Given the description of an element on the screen output the (x, y) to click on. 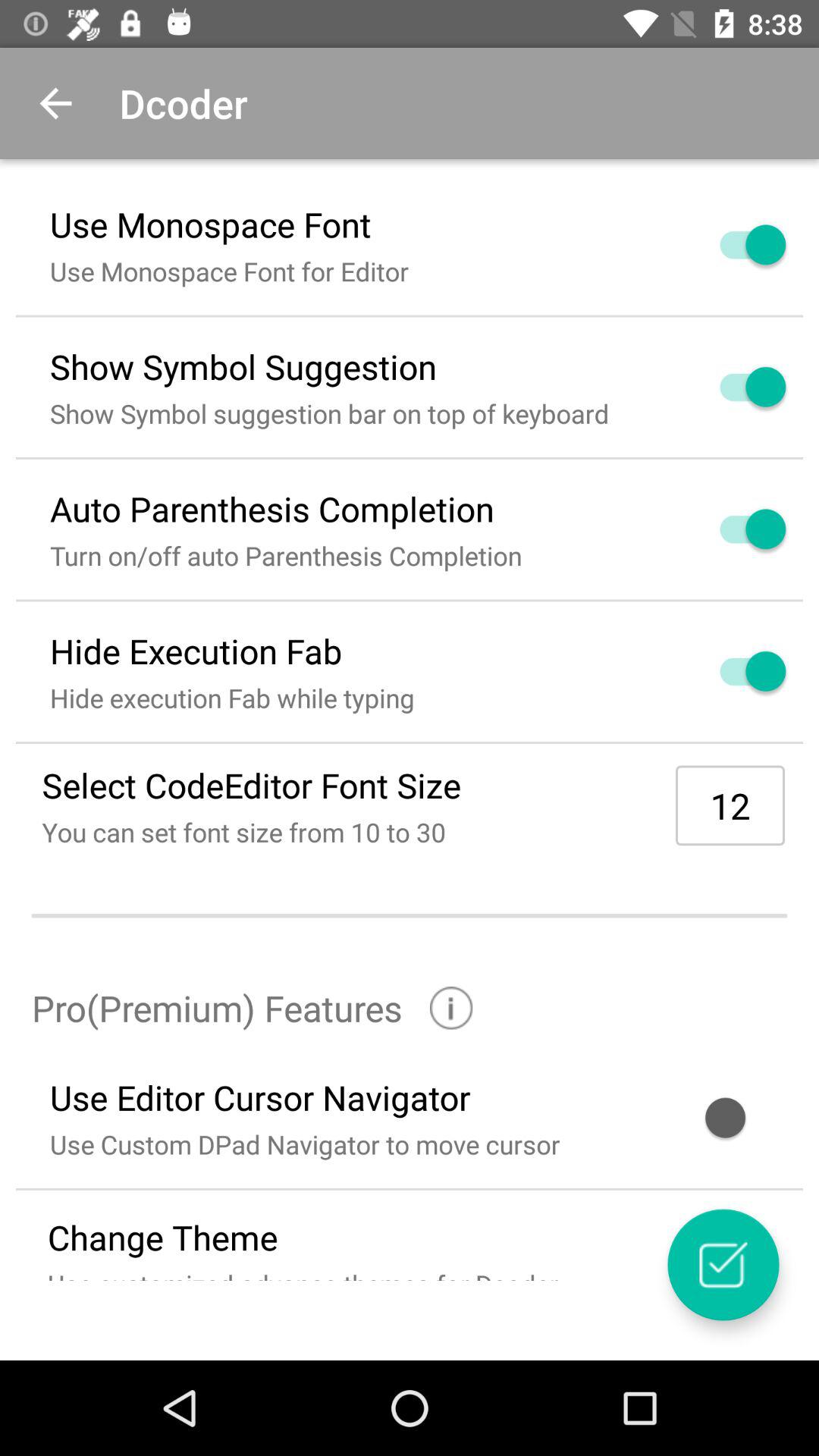
change theme (723, 1264)
